Given the description of an element on the screen output the (x, y) to click on. 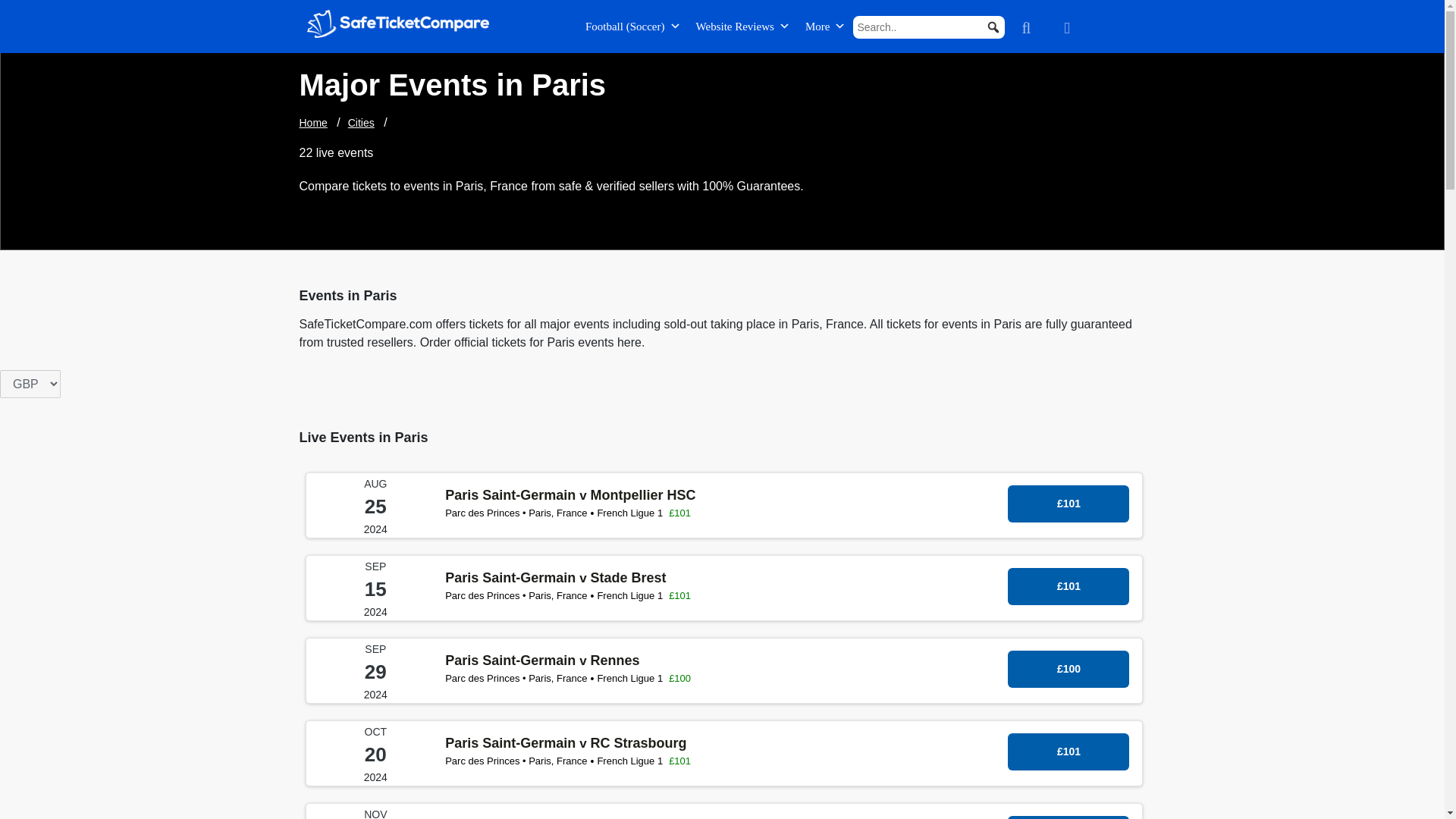
Paris Saint-Germain vs RC Strasbourg 2024-10-20 (722, 780)
Paris Saint-Germain vs Montpellier HSC 2024-08-25 (1068, 503)
Paris Saint-Germain vs Stade Brest 2024-09-15 (722, 615)
Paris Saint-Germain vs RC Lens 2024-11-03 (1068, 817)
Paris Saint-Germain vs Stade Brest 2024-09-15 (1068, 586)
Paris Saint-Germain vs Montpellier HSC 2024-08-25 (722, 533)
Paris Saint-Germain vs Rennes 2024-09-29 (1068, 668)
Paris Saint-Germain vs RC Strasbourg 2024-10-20 (1068, 751)
Paris Saint-Germain vs Rennes 2024-09-29 (722, 698)
